Given the description of an element on the screen output the (x, y) to click on. 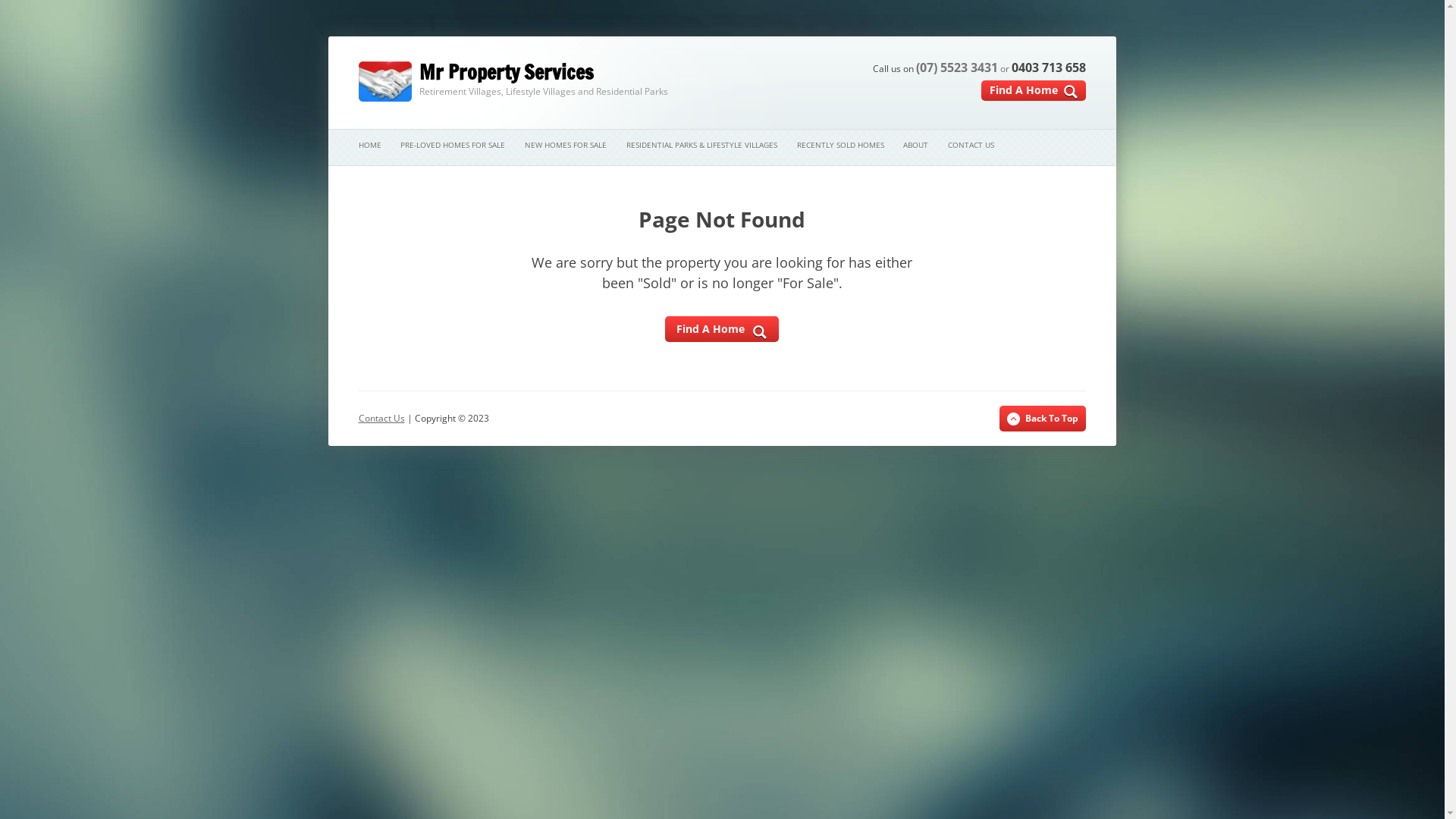
CONTACT US Element type: text (970, 145)
Find A Home Element type: text (1033, 90)
RESIDENTIAL PARKS & LIFESTYLE VILLAGES Element type: text (701, 145)
Contact Us Element type: text (380, 417)
NEW HOMES FOR SALE Element type: text (565, 145)
Mr Property Services Element type: text (475, 72)
ABOUT Element type: text (915, 145)
RECENTLY SOLD HOMES Element type: text (840, 145)
PRE-LOVED HOMES FOR SALE Element type: text (452, 145)
Back To Top Element type: text (1042, 418)
Skip to content Element type: text (808, 77)
HOME Element type: text (368, 145)
0403 713 658 Element type: text (1048, 67)
Find A Home Element type: text (721, 329)
(07) 5523 3431 Element type: text (956, 67)
